Given the description of an element on the screen output the (x, y) to click on. 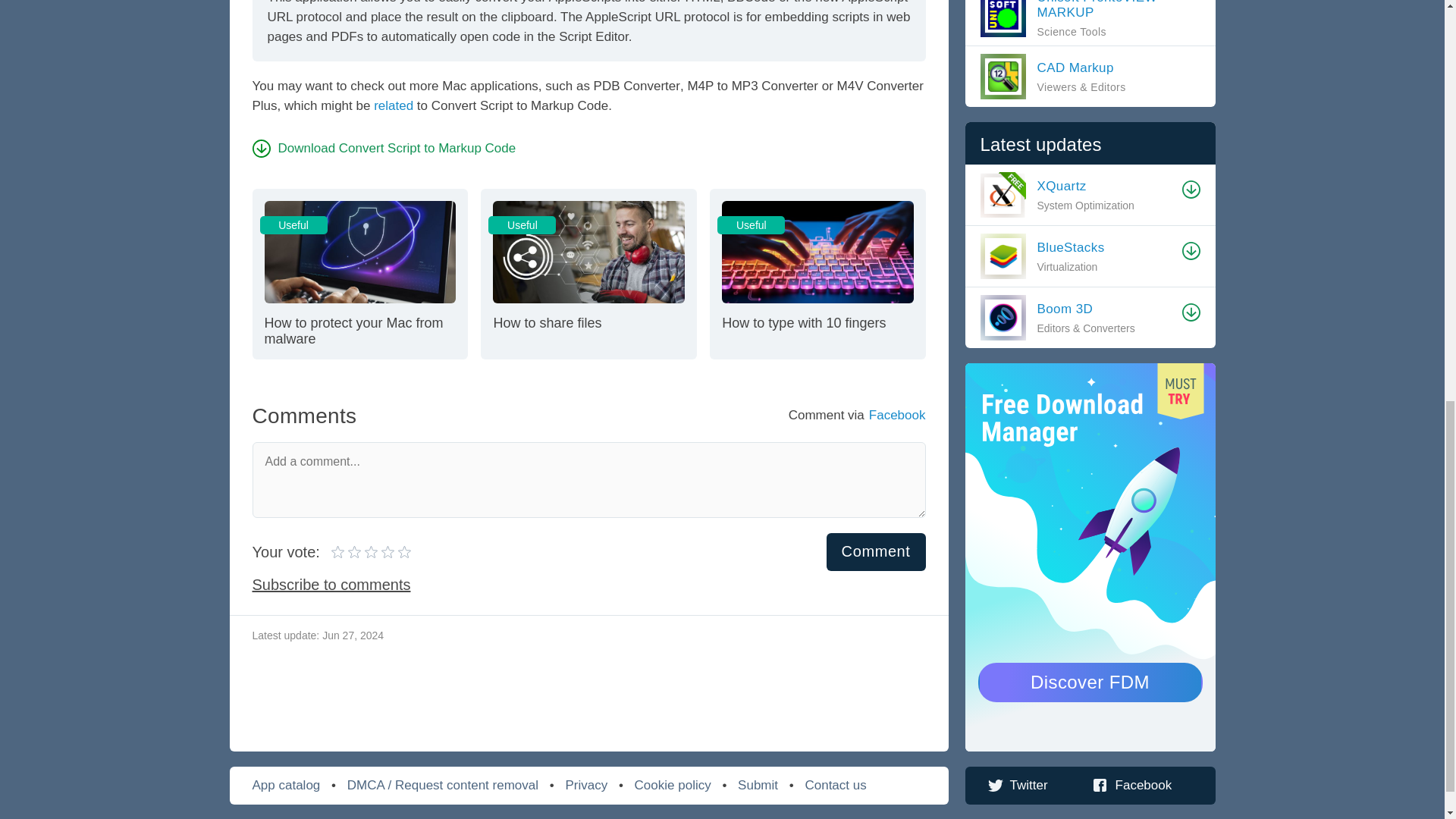
related (393, 105)
Comment (359, 273)
Download Convert Script to Markup Code (876, 551)
2 (383, 147)
5 (346, 551)
Comment (370, 551)
4 (876, 551)
1 (363, 551)
3 (338, 551)
